Given the description of an element on the screen output the (x, y) to click on. 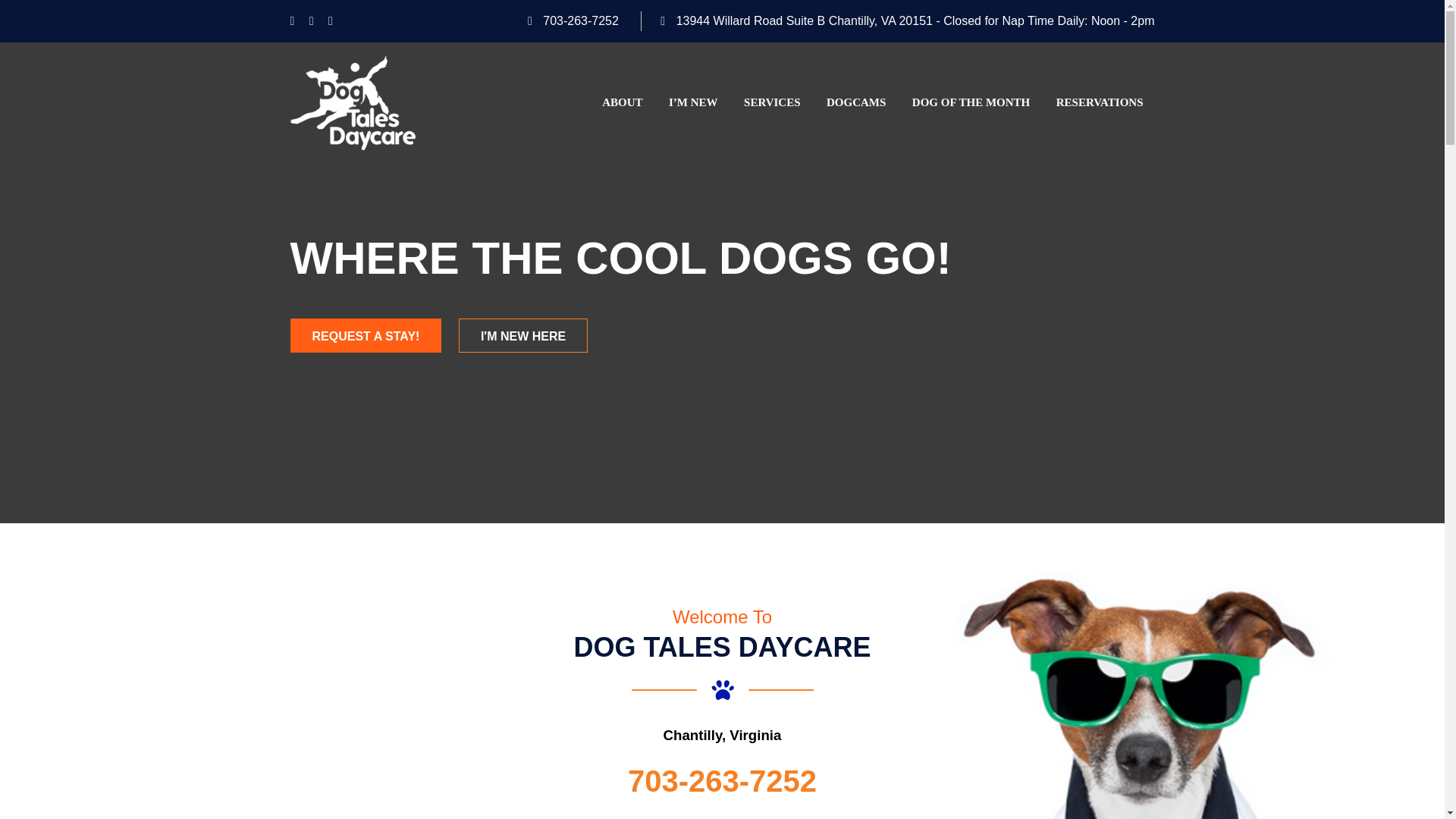
DOGCAMS (855, 102)
SERVICES (772, 102)
DOG OF THE MONTH (971, 102)
I'M NEW HERE (523, 335)
703-263-7252 (580, 20)
ABOUT (622, 102)
REQUEST A STAY! (365, 335)
RESERVATIONS (1099, 102)
